Given the description of an element on the screen output the (x, y) to click on. 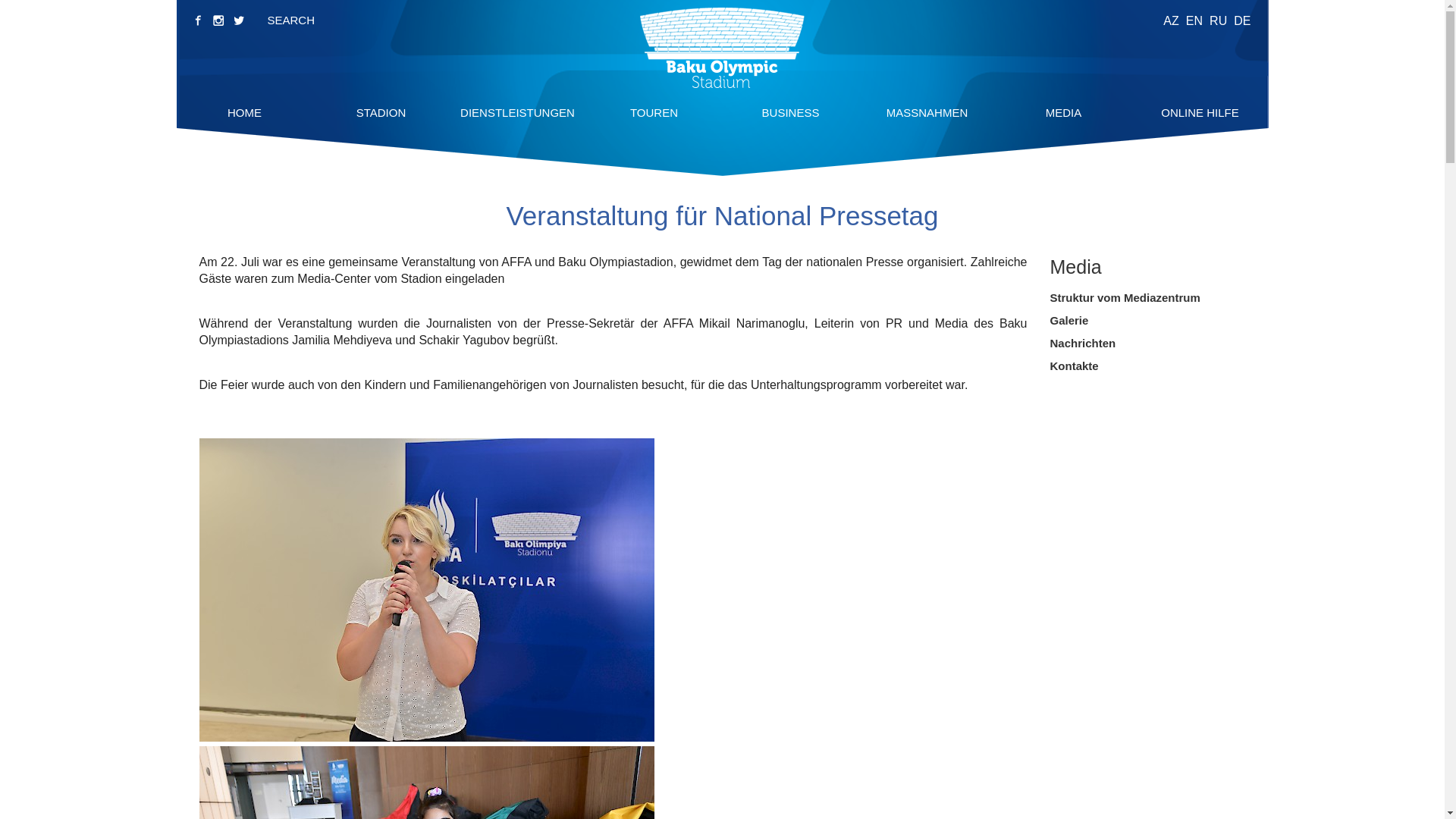
DIENSTLEISTUNGEN Element type: text (517, 112)
BUSINESS Element type: text (790, 112)
TOUREN Element type: text (653, 112)
AZ Element type: text (1170, 21)
RU Element type: text (1218, 21)
Kontakte Element type: text (1073, 365)
  Element type: text (218, 20)
Galerie Element type: text (1068, 319)
Nachrichten Element type: text (1082, 342)
MASSNAHMEN Element type: text (926, 112)
STADION Element type: text (381, 112)
ONLINE HILFE Element type: text (1199, 112)
  Element type: text (239, 20)
Struktur vom Mediazentrum Element type: text (1124, 297)
DE Element type: text (1241, 21)
MEDIA Element type: text (1063, 112)
Baku Olympic Stadium Element type: hover (722, 47)
  Element type: text (196, 20)
EN Element type: text (1193, 21)
HOME Element type: text (244, 112)
